Given the description of an element on the screen output the (x, y) to click on. 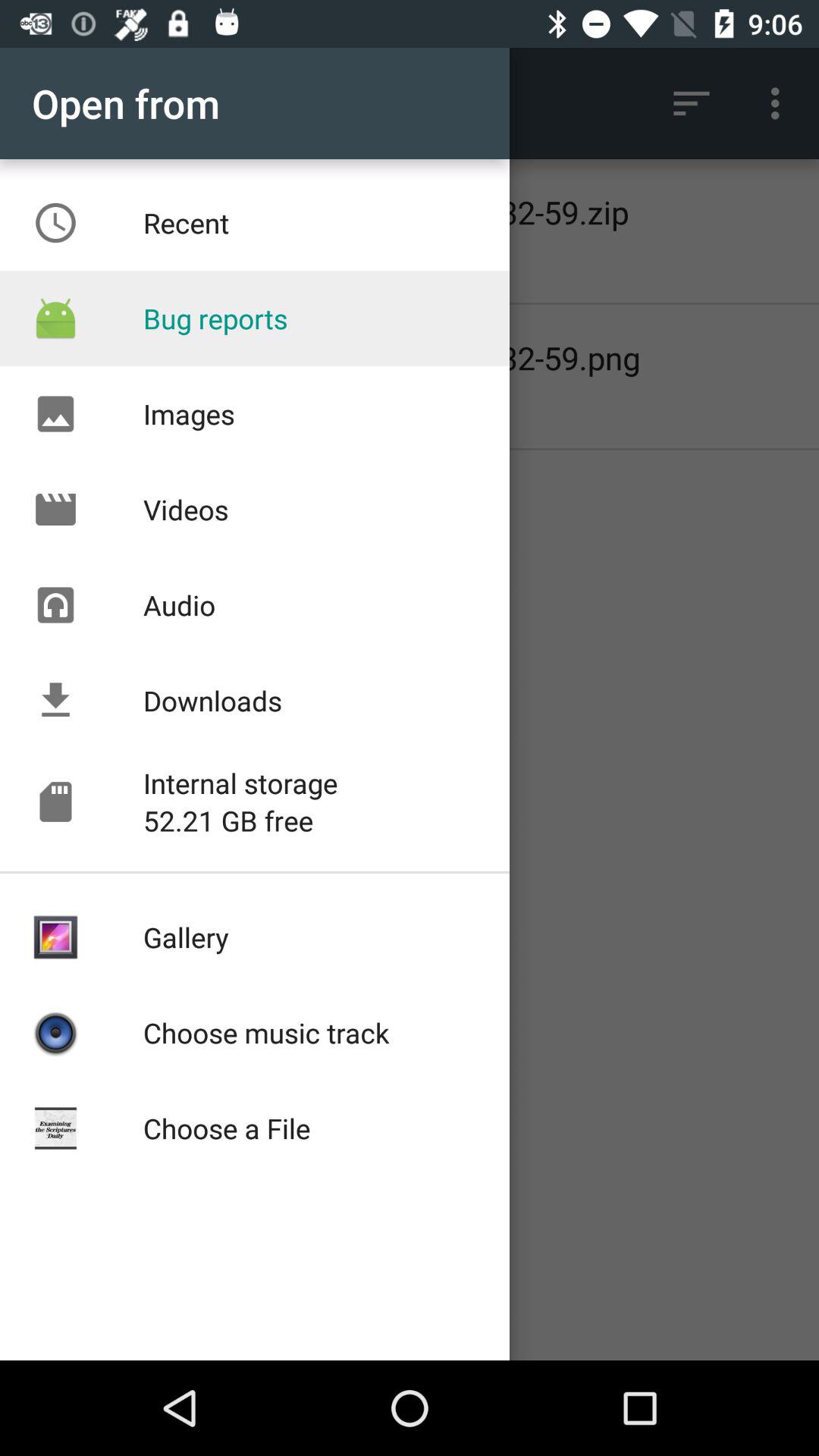
go to the icon which is left to the recent (55, 223)
click on the icon which is left side of videos (55, 510)
click the recent icon (55, 223)
